Given the description of an element on the screen output the (x, y) to click on. 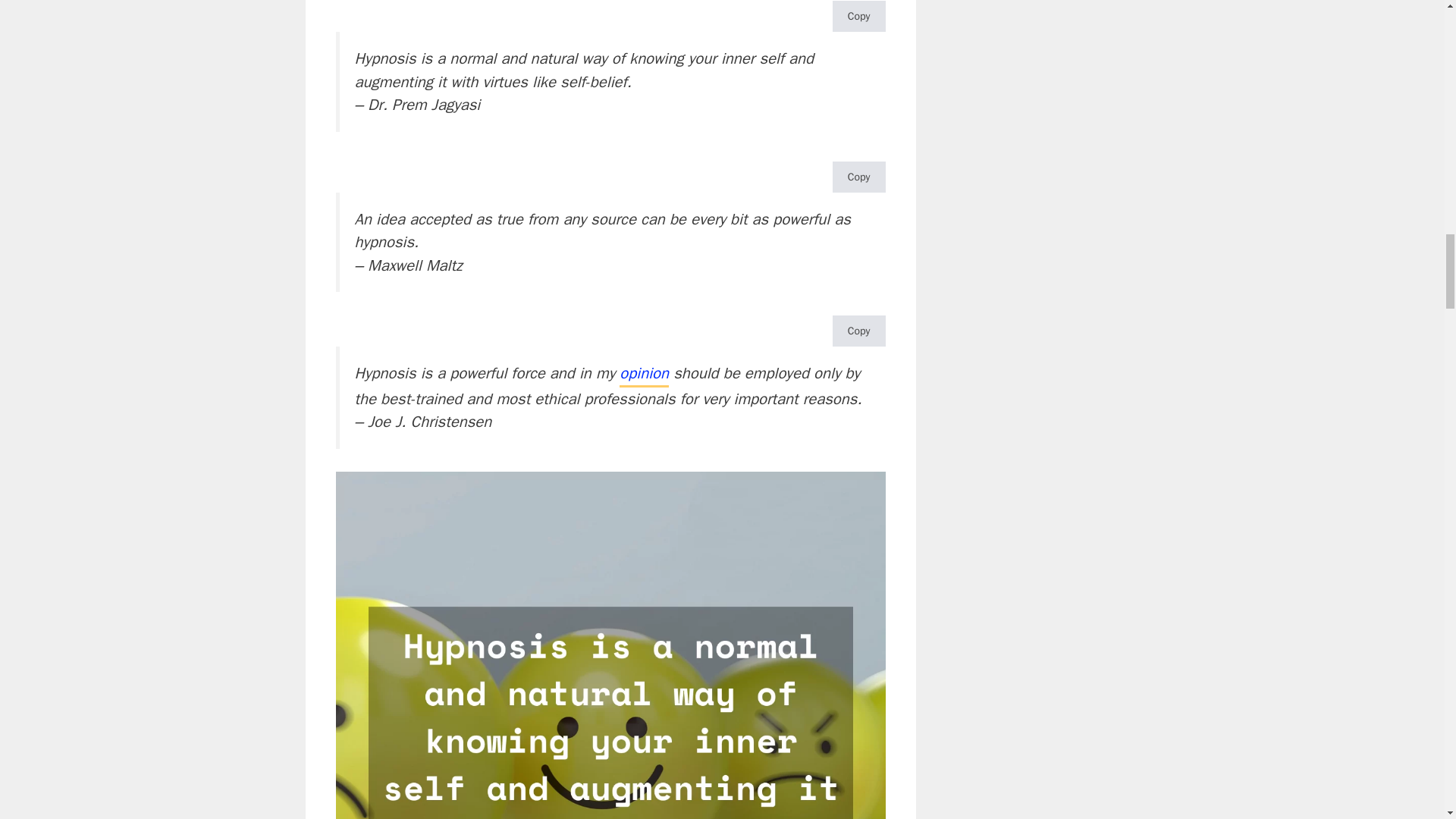
Copy (858, 15)
Copy (858, 330)
Copy (858, 176)
Copy to Clipboard (858, 15)
opinion (644, 374)
